Given the description of an element on the screen output the (x, y) to click on. 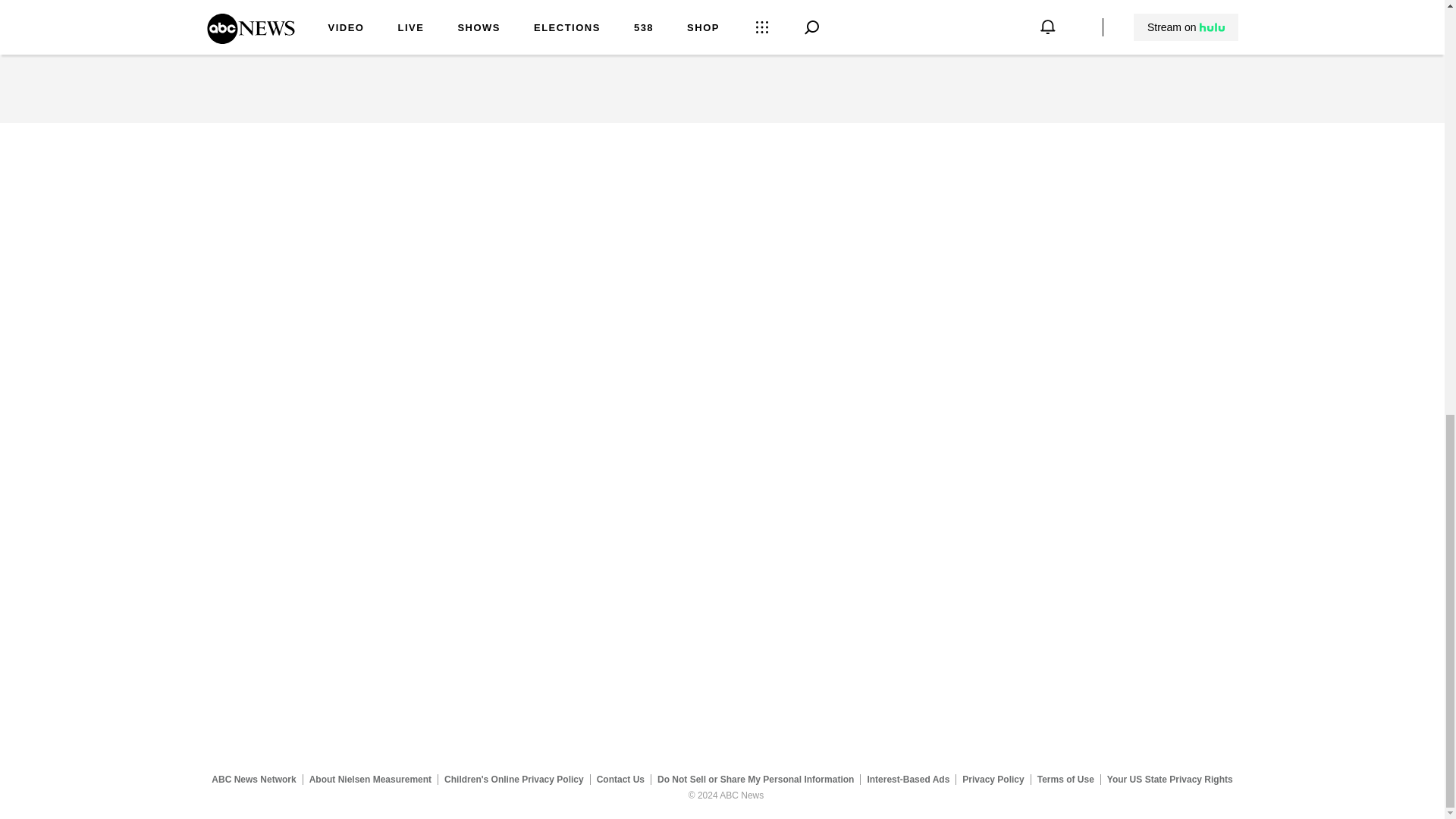
Children's Online Privacy Policy (514, 778)
About Nielsen Measurement (370, 778)
Contact Us (620, 778)
Privacy Policy (993, 778)
Your US State Privacy Rights (1169, 778)
Terms of Use (1065, 778)
ABC News Network (253, 778)
Do Not Sell or Share My Personal Information (755, 778)
Interest-Based Ads (908, 778)
